Given the description of an element on the screen output the (x, y) to click on. 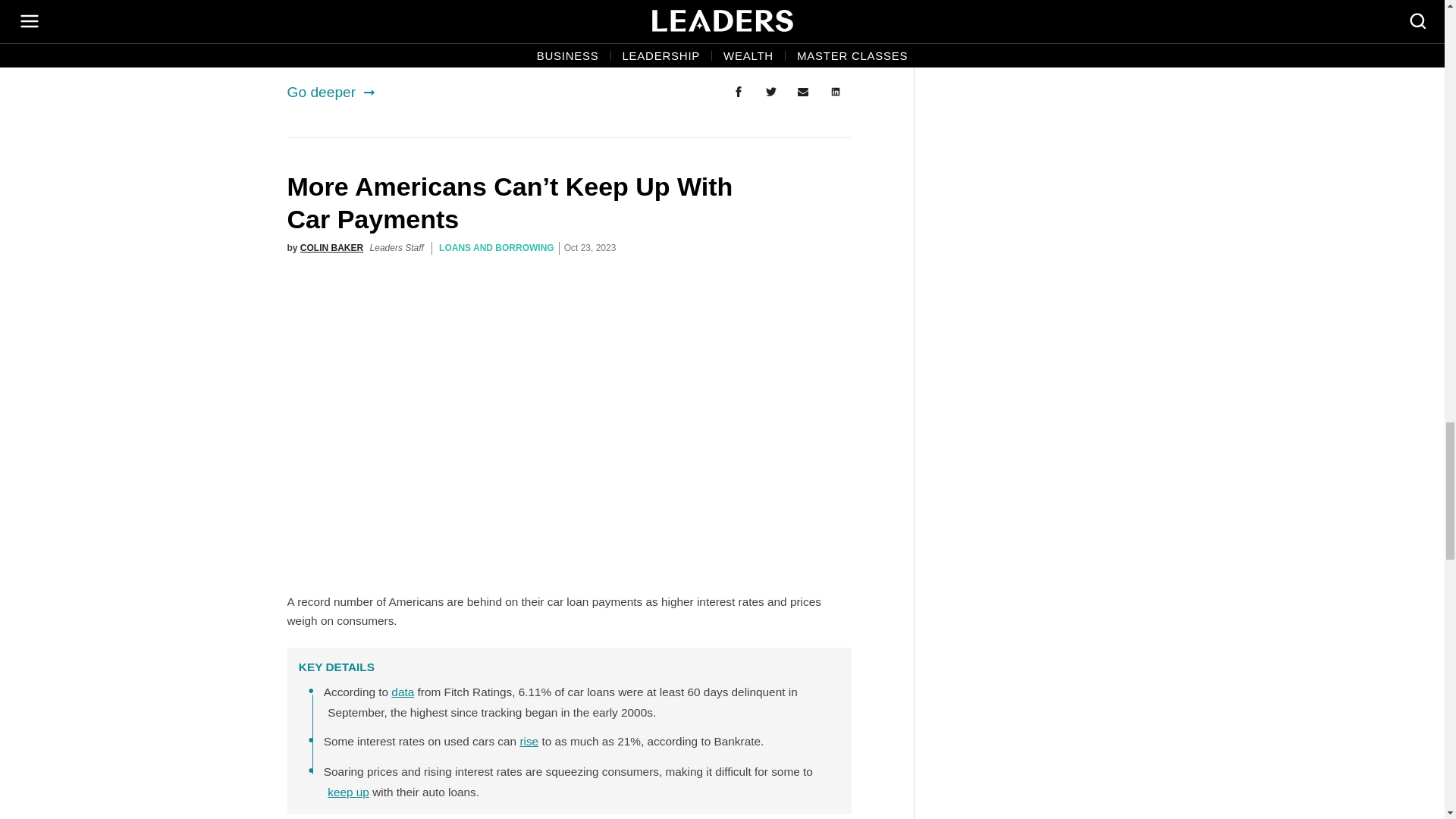
Share via Email (803, 91)
Share on LinkedIn (835, 91)
Share on Facebook (738, 91)
Share on Twitter (770, 91)
